Given the description of an element on the screen output the (x, y) to click on. 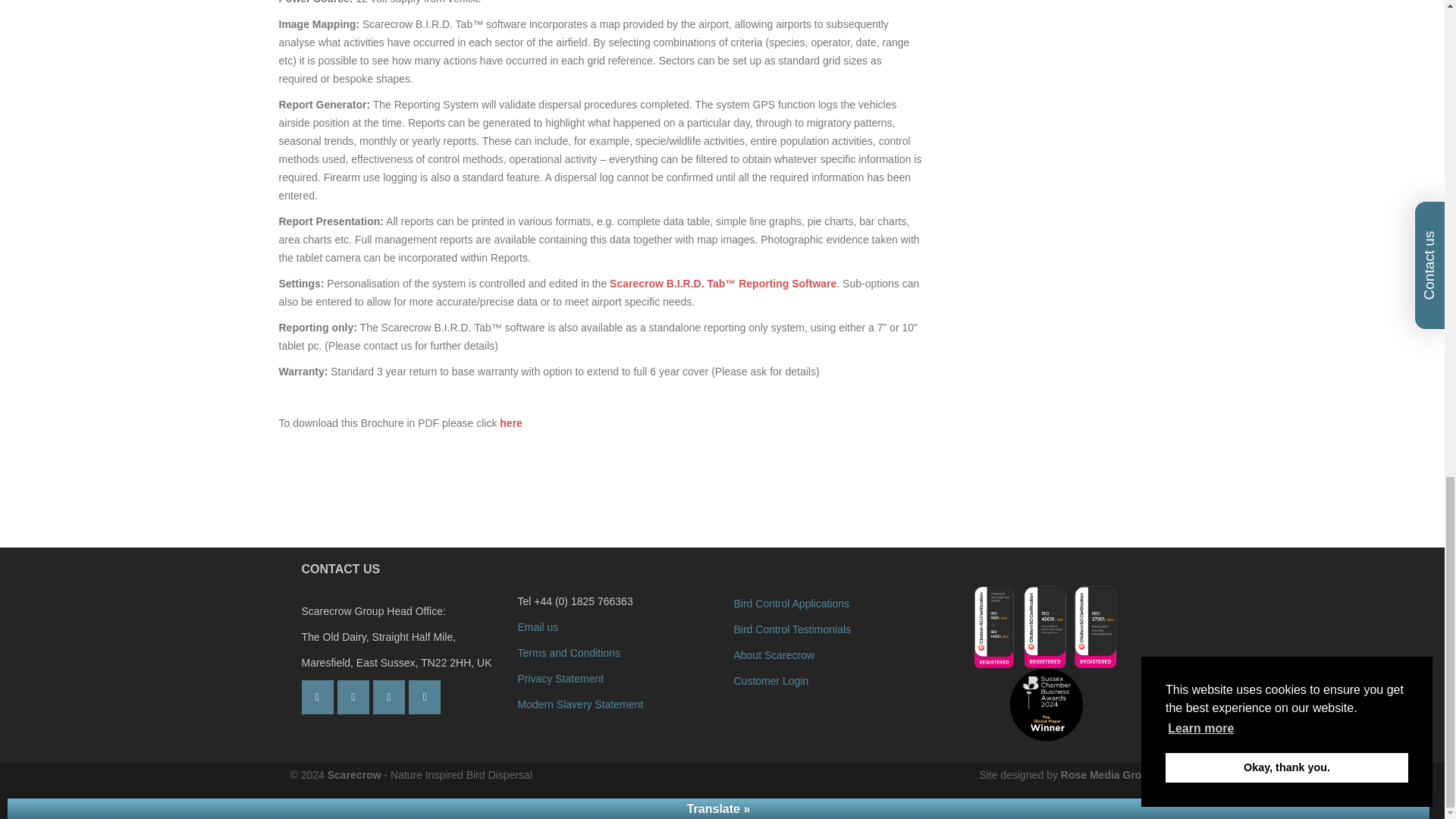
About (774, 654)
Scarecrow Bird Control on Linkedin (317, 697)
here (510, 422)
Privacy Statement (560, 678)
Scarecrow Bird Control on Twitter (388, 697)
Scarecrow Bird Control on Facebook (425, 697)
Contact (536, 626)
Scarecrow on Instagram (353, 697)
Testimonials (792, 629)
Applications (792, 603)
